Given the description of an element on the screen output the (x, y) to click on. 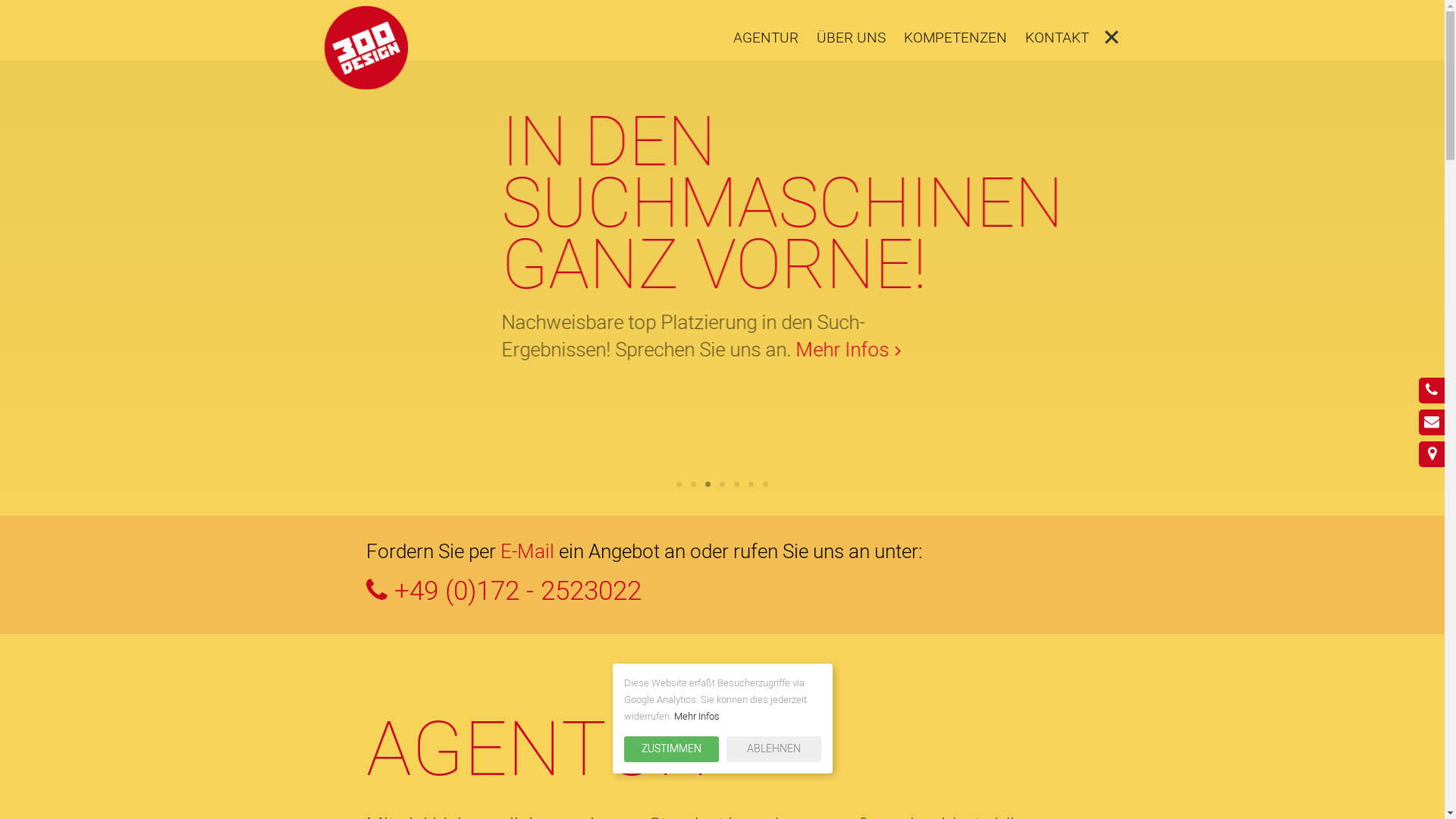
4 Element type: text (721, 483)
Mehr Infos Element type: text (695, 716)
3 Element type: text (707, 483)
7 Element type: text (765, 483)
6 Element type: text (750, 483)
ZUSTIMMEN Element type: text (670, 749)
Mehr Infos Element type: text (618, 411)
E-Mail Element type: text (527, 551)
1 Element type: text (678, 483)
+49 (0)172 - 2523022 Element type: text (721, 591)
2 Element type: text (693, 483)
ABLEHNEN Element type: text (773, 749)
KOMPETENZEN Element type: text (955, 37)
AGENTUR Element type: text (765, 37)
KONTAKT Element type: text (1056, 37)
5 Element type: text (736, 483)
